Given the description of an element on the screen output the (x, y) to click on. 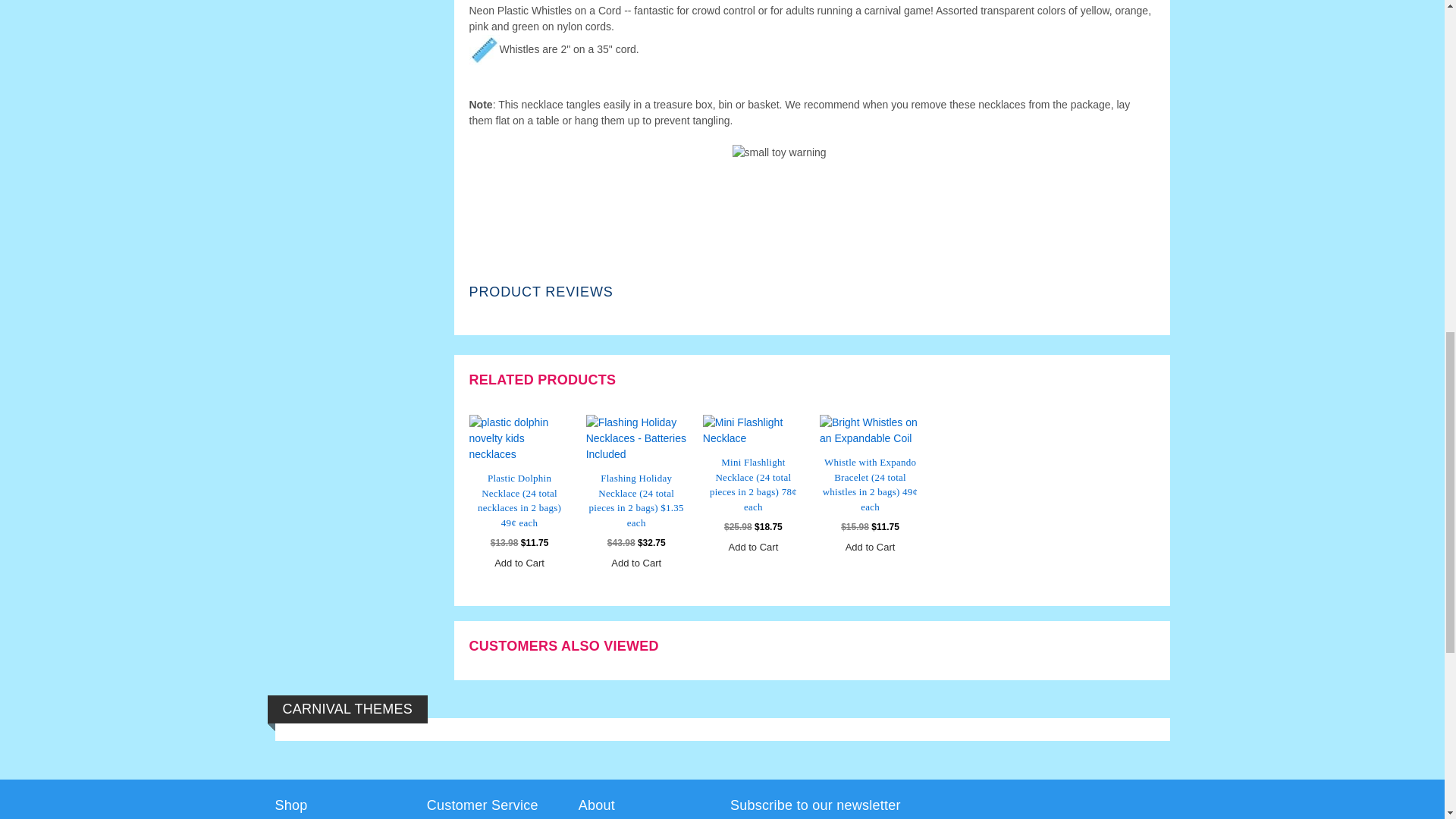
plastic dolphin novelty kids necklaces (518, 438)
Flashing Holiday Necklaces - Batteries Included (636, 438)
small toy warning (811, 166)
Mini Flashlight Necklace (753, 430)
Bright Whistles on an Expandable Coil (869, 430)
